Given the description of an element on the screen output the (x, y) to click on. 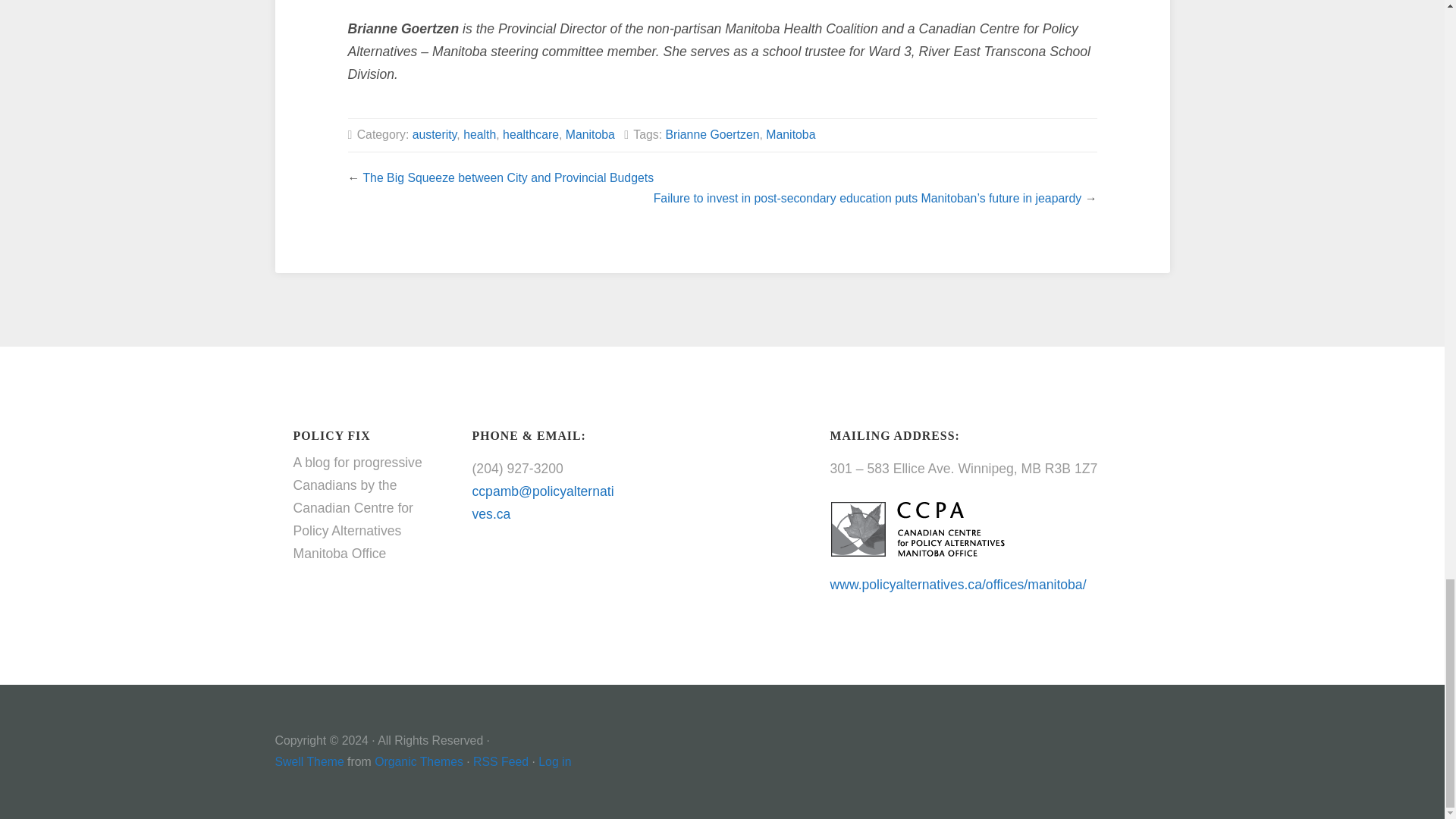
health (479, 133)
Log in (554, 761)
Brianne Goertzen (711, 133)
Manitoba (590, 133)
The Big Squeeze between City and Provincial Budgets (507, 177)
Organic Themes (418, 761)
Swell Theme (309, 761)
healthcare (530, 133)
Manitoba (790, 133)
austerity (434, 133)
RSS Feed (500, 761)
